Given the description of an element on the screen output the (x, y) to click on. 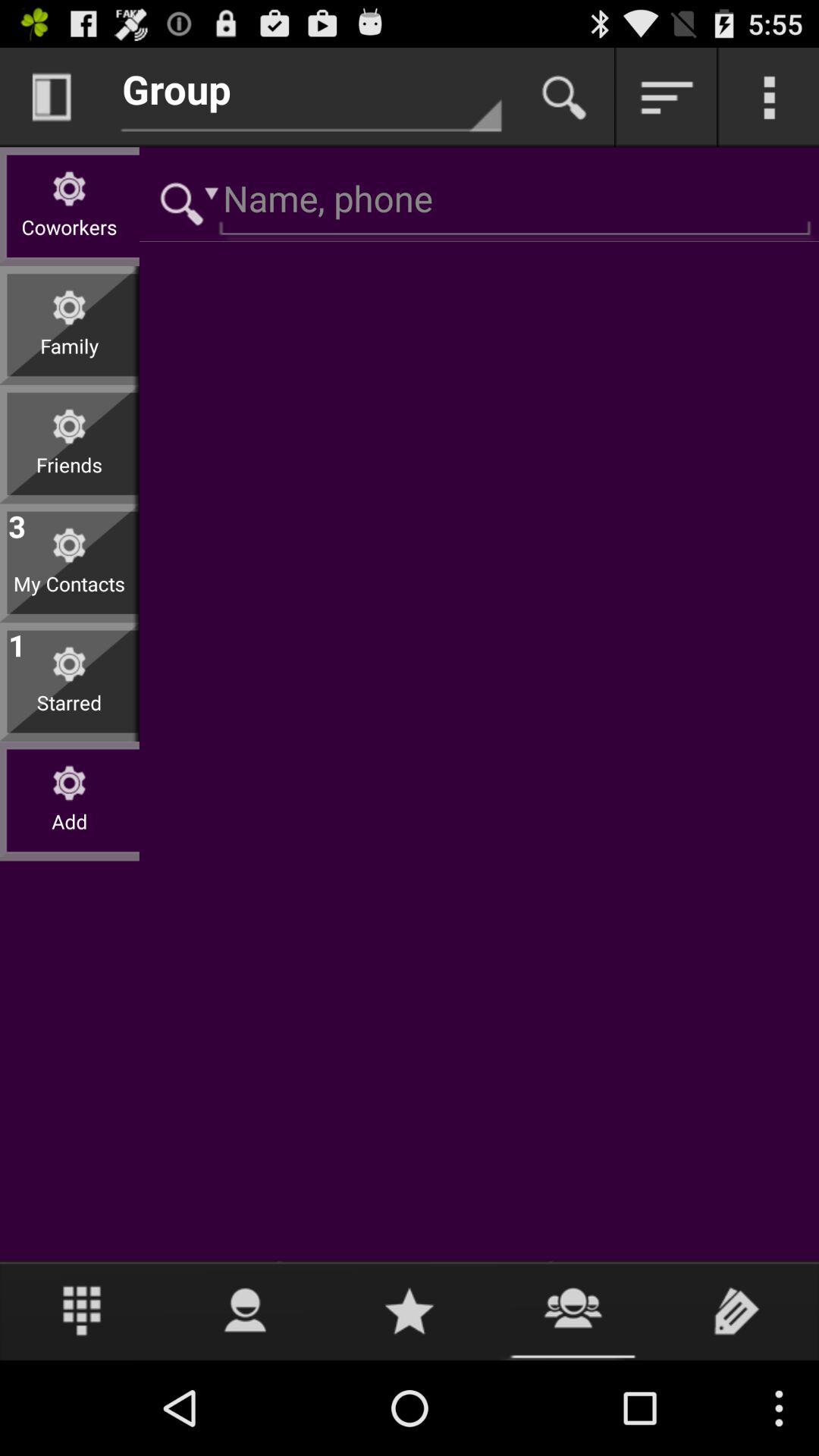
click add item (69, 833)
